Given the description of an element on the screen output the (x, y) to click on. 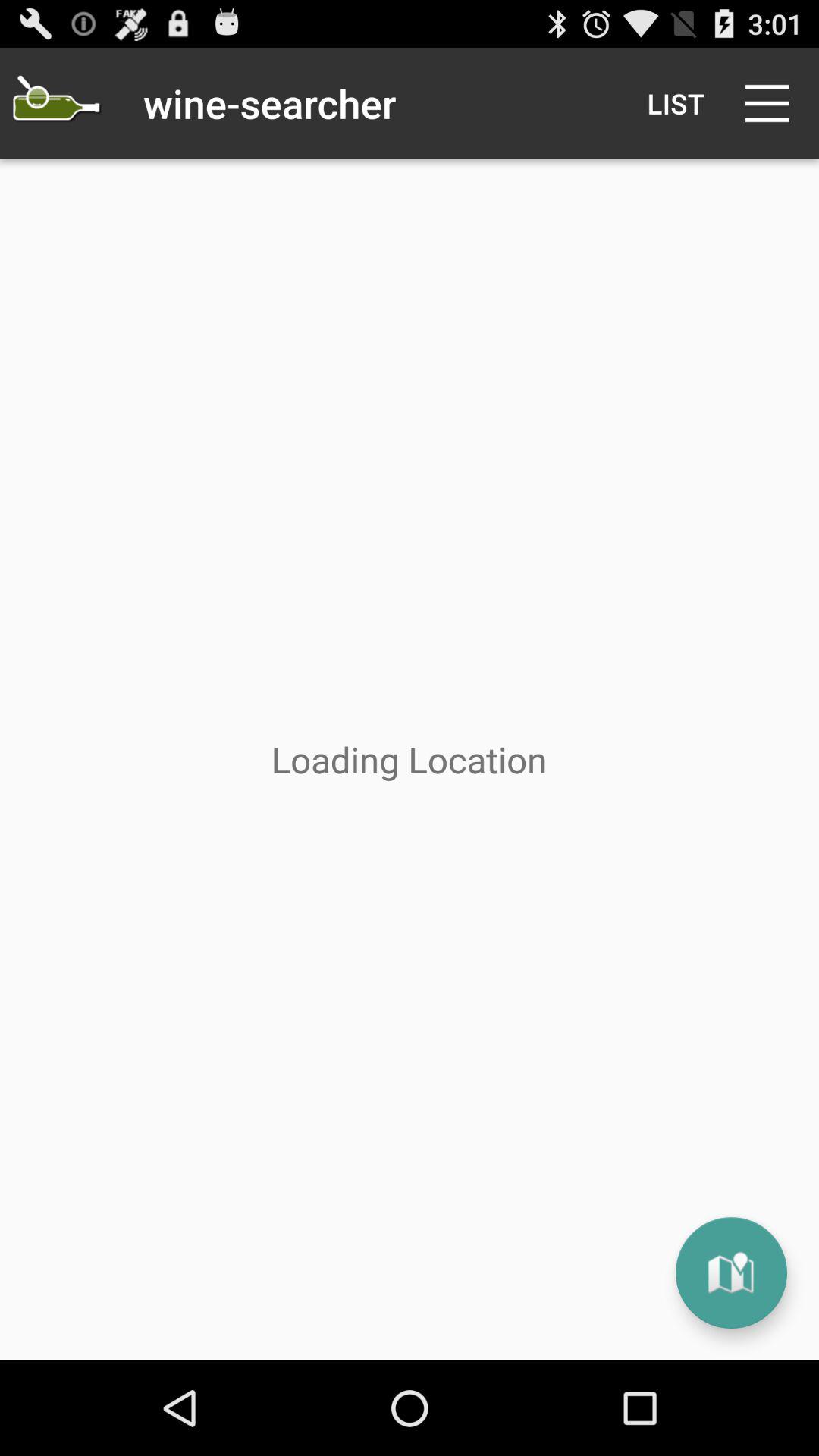
show map (731, 1272)
